Given the description of an element on the screen output the (x, y) to click on. 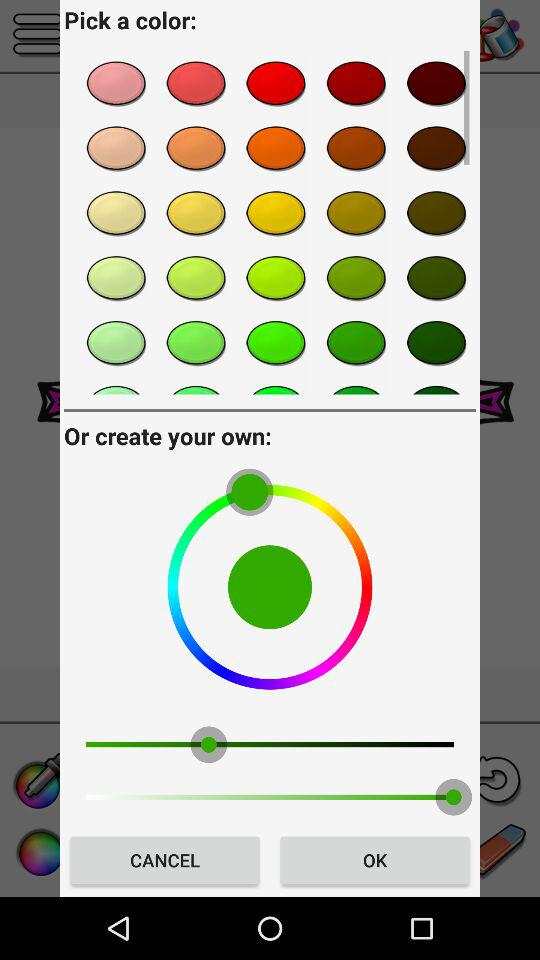
choose icon at the bottom right corner (374, 859)
